Given the description of an element on the screen output the (x, y) to click on. 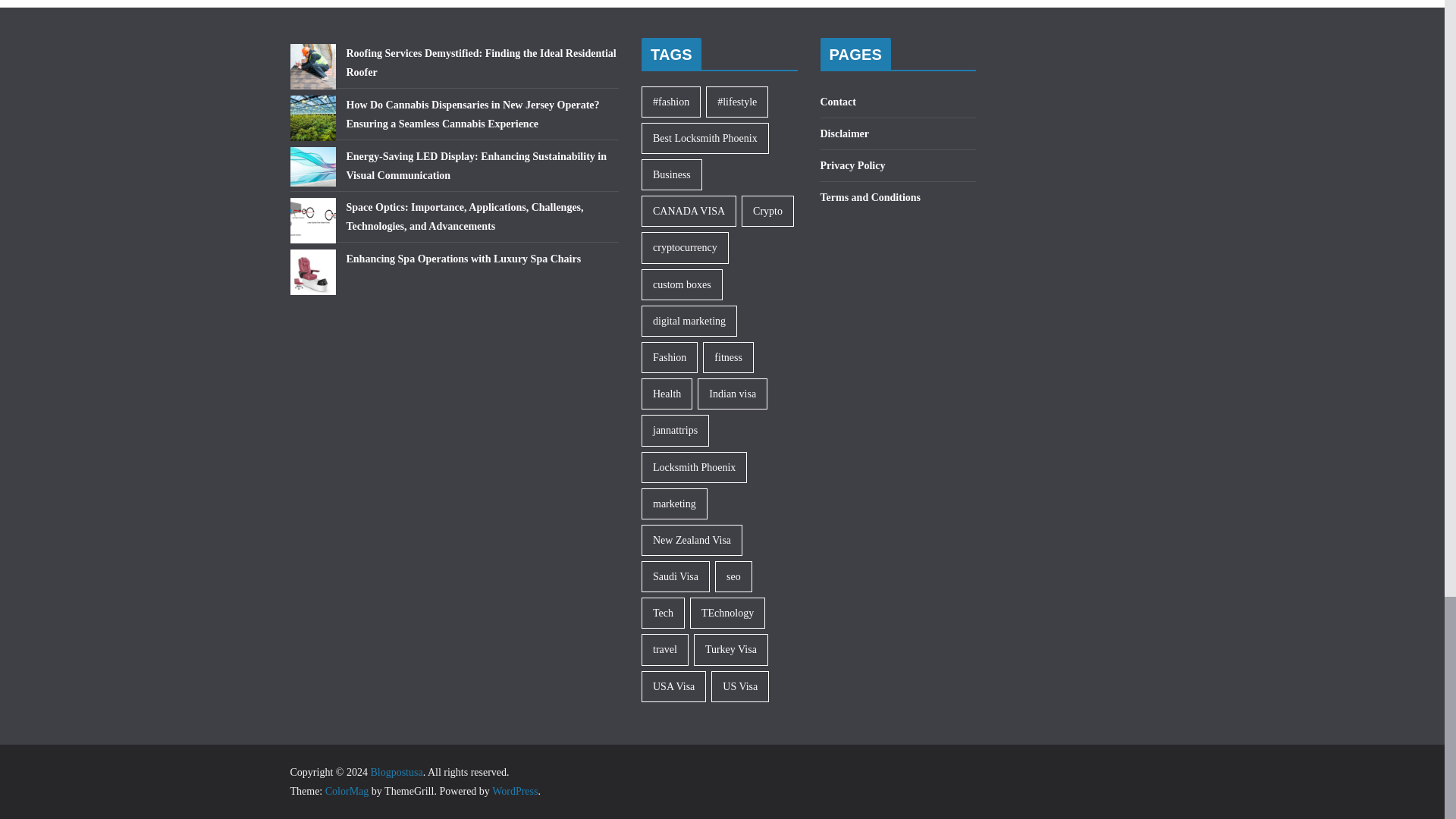
WordPress (514, 790)
Blogpostusa (395, 772)
ColorMag (346, 790)
